Given the description of an element on the screen output the (x, y) to click on. 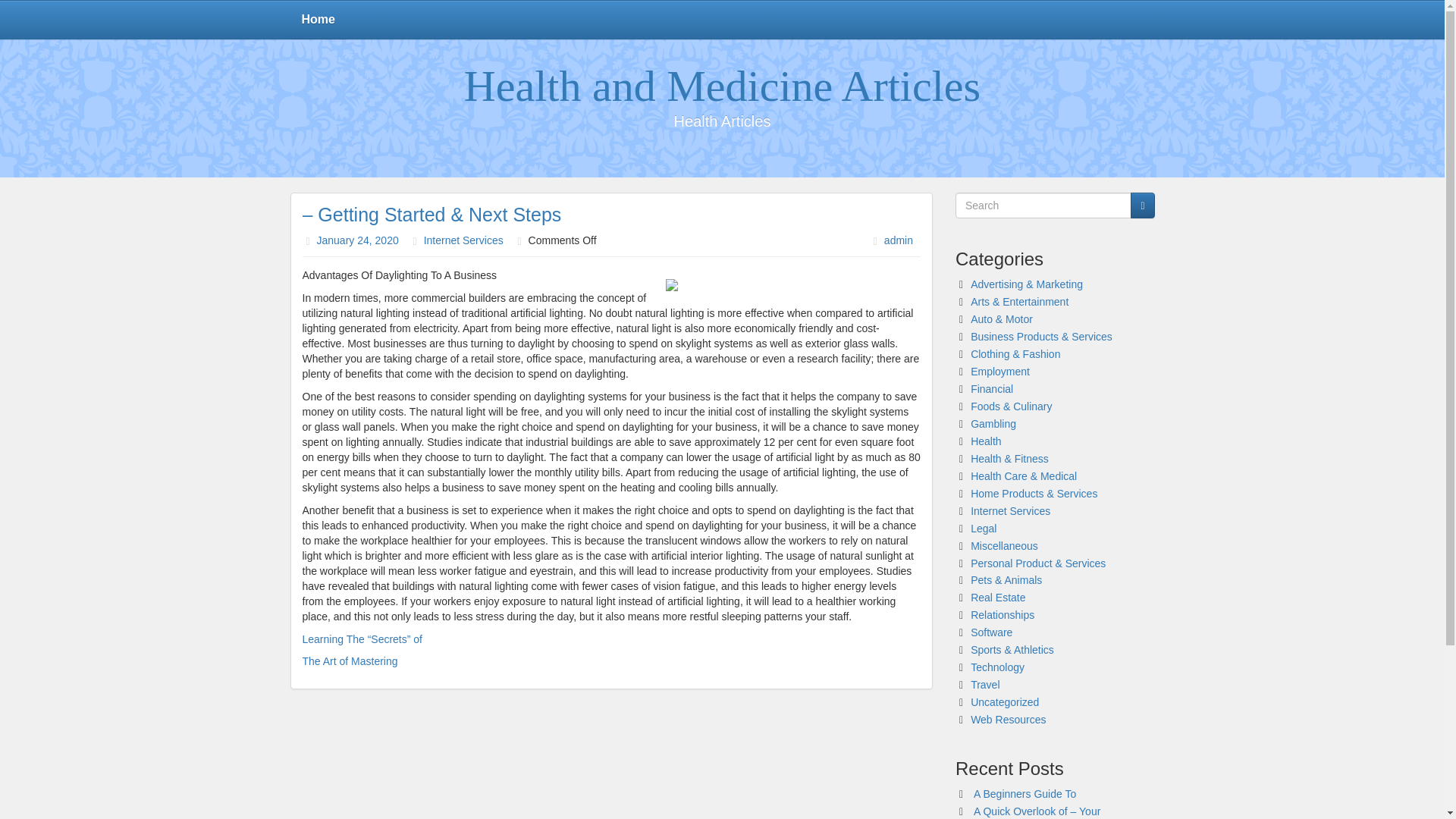
Technology (998, 666)
A Beginners Guide To (1024, 793)
Health and Medicine Articles (721, 85)
Internet Services (1010, 510)
Financial (992, 388)
Posts by admin (897, 240)
Health and Medicine Articles (721, 85)
Home (317, 19)
Real Estate (998, 597)
Employment (1000, 371)
Miscellaneous (1004, 545)
Web Resources (1008, 719)
Software (991, 632)
January 24, 2020 (357, 240)
admin (897, 240)
